Given the description of an element on the screen output the (x, y) to click on. 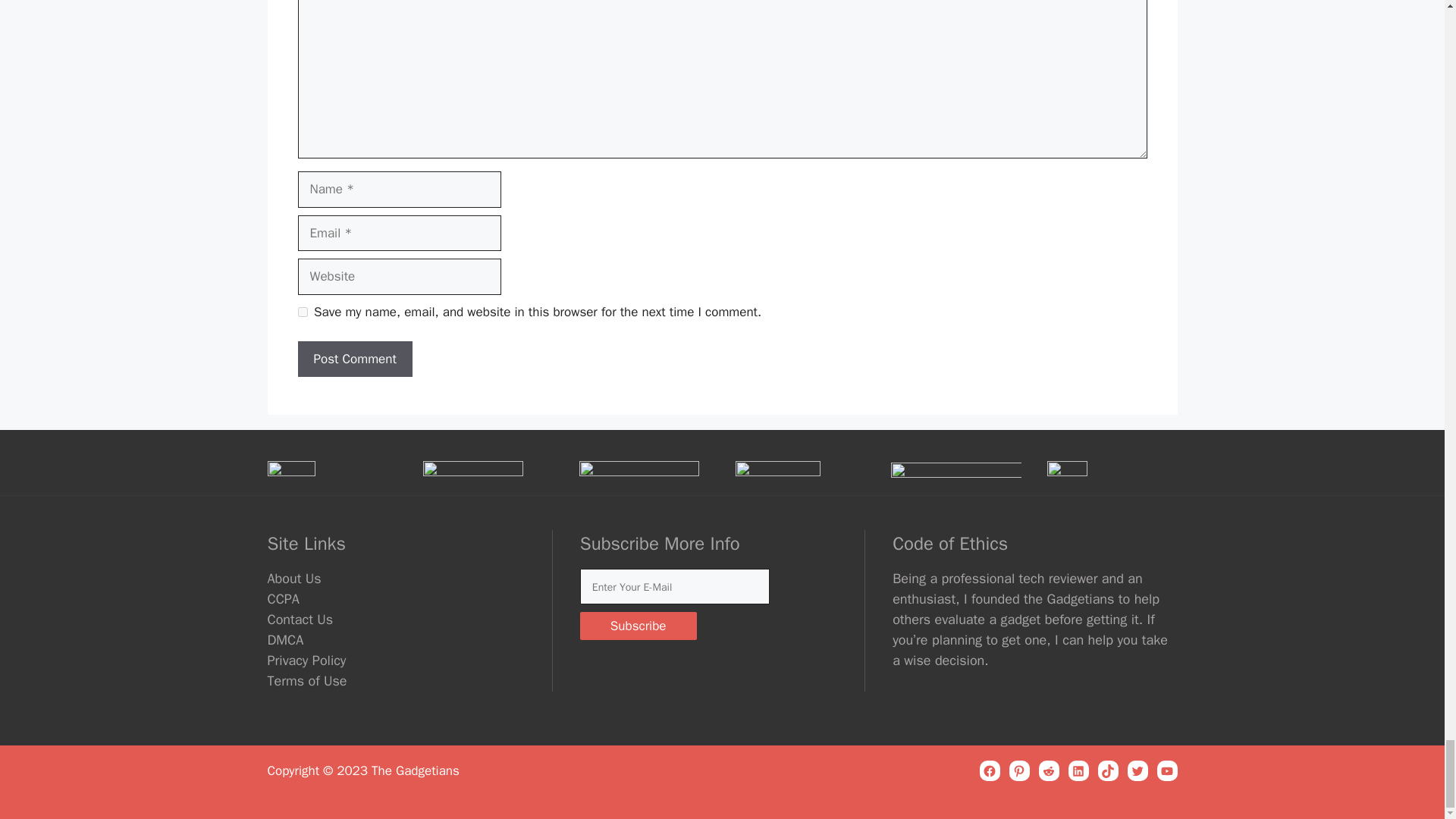
Subscribe (638, 625)
yes (302, 311)
Post Comment (354, 359)
